Given the description of an element on the screen output the (x, y) to click on. 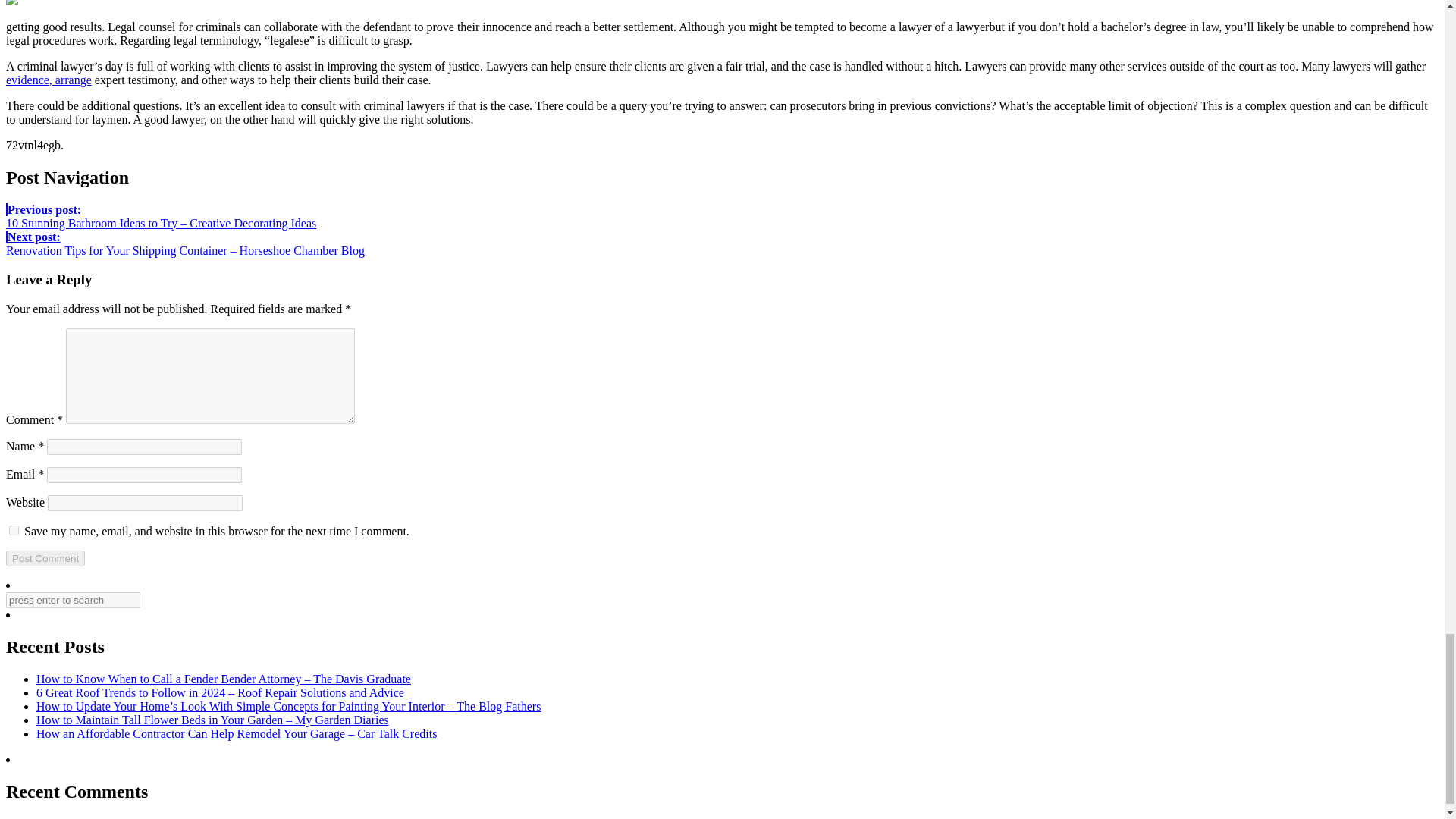
Post Comment (44, 558)
yes (13, 530)
evidence, arrange (48, 79)
Post Comment (44, 558)
